Given the description of an element on the screen output the (x, y) to click on. 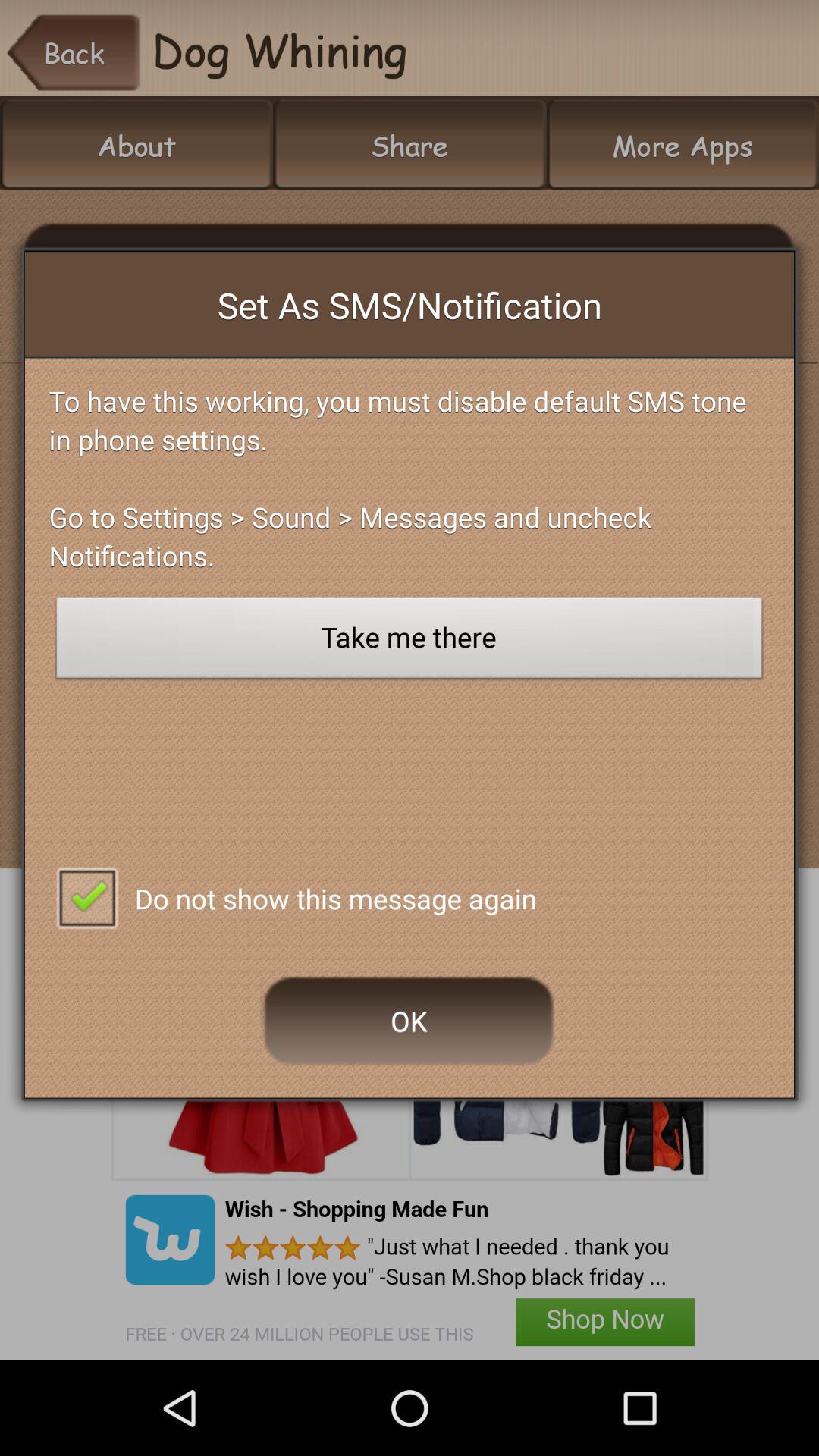
check/uncheck message notification (86, 896)
